Given the description of an element on the screen output the (x, y) to click on. 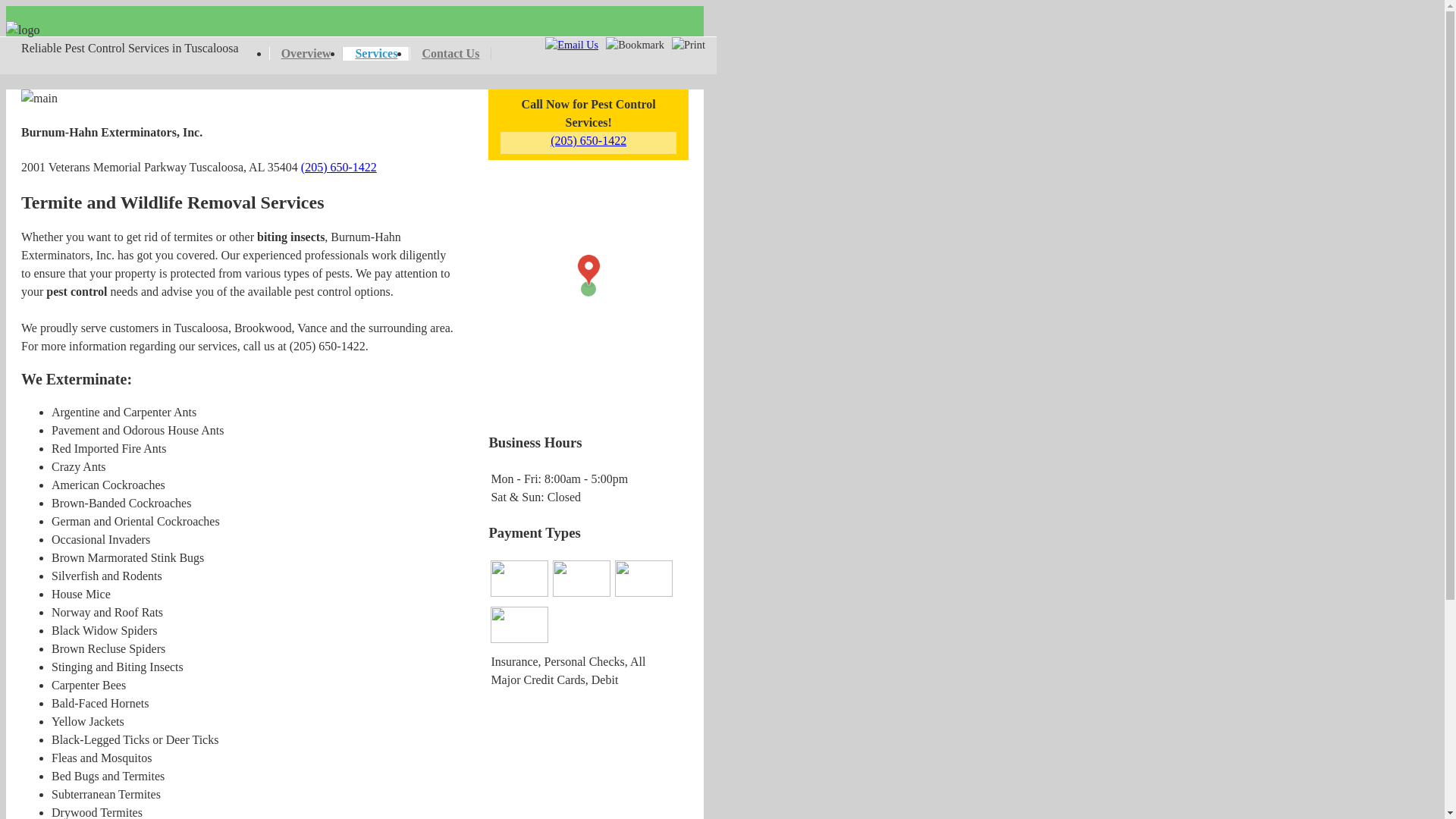
Overview Element type: text (306, 53)
(205) 650-1422 Element type: text (338, 166)
Google Map Container Element type: hover (588, 288)
Print Element type: hover (688, 45)
(205) 650-1422 Element type: text (588, 140)
Bookmark Element type: hover (634, 45)
Services Element type: text (375, 53)
Contact Us Element type: text (450, 53)
Email Us Element type: hover (571, 45)
